Given the description of an element on the screen output the (x, y) to click on. 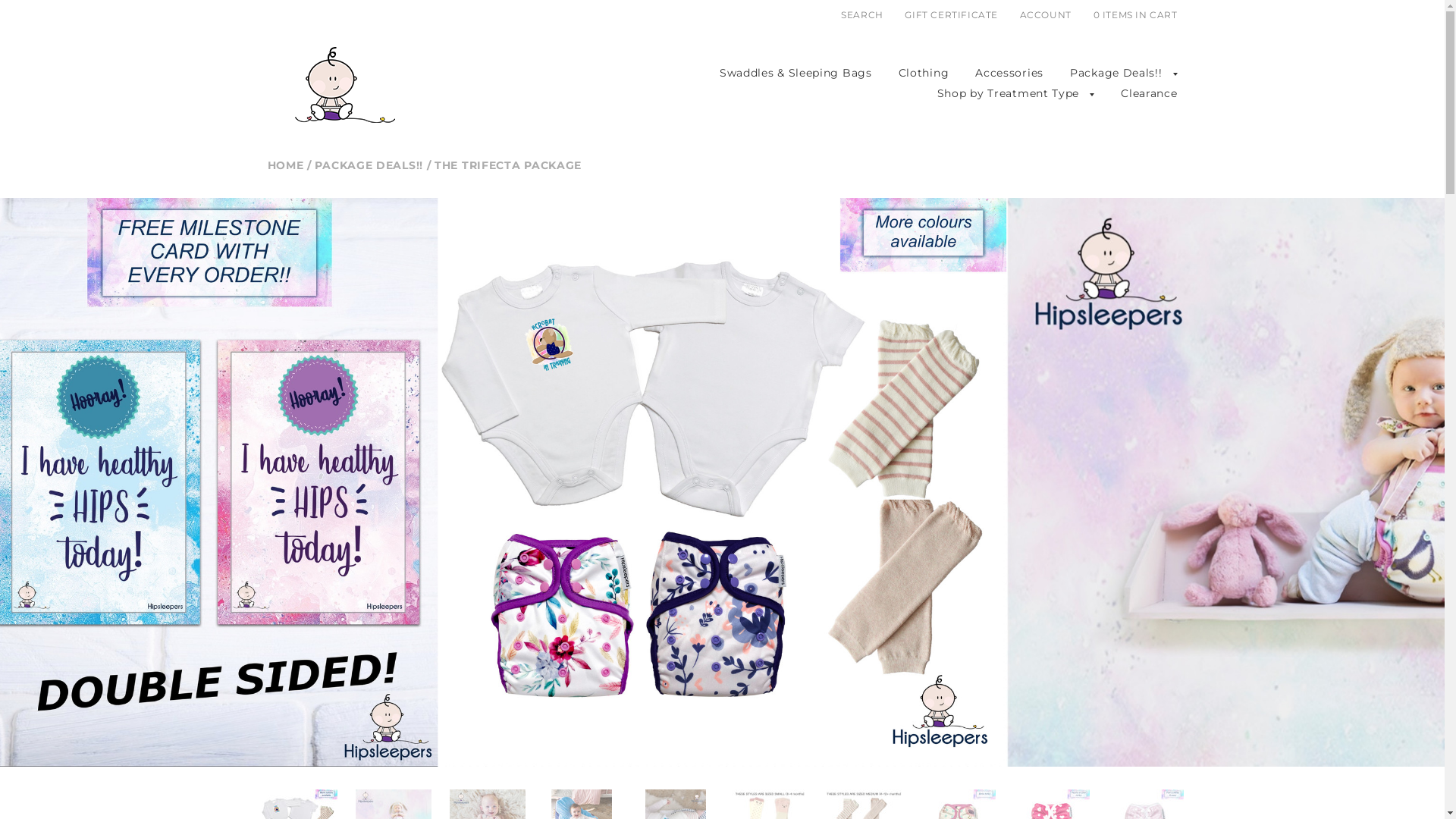
Swaddles & Sleeping Bags Element type: text (795, 72)
THE TRIFECTA PACKAGE Element type: text (507, 165)
PACKAGE DEALS!! Element type: text (368, 165)
Clearance Element type: text (1148, 93)
Shop by Treatment Type Element type: text (1008, 93)
ACCOUNT Element type: text (1045, 14)
Clothing Element type: text (923, 72)
Package Deals!! Element type: text (1116, 72)
Accessories Element type: text (1009, 72)
GIFT CERTIFICATE Element type: text (952, 14)
HOME Element type: text (284, 165)
